Given the description of an element on the screen output the (x, y) to click on. 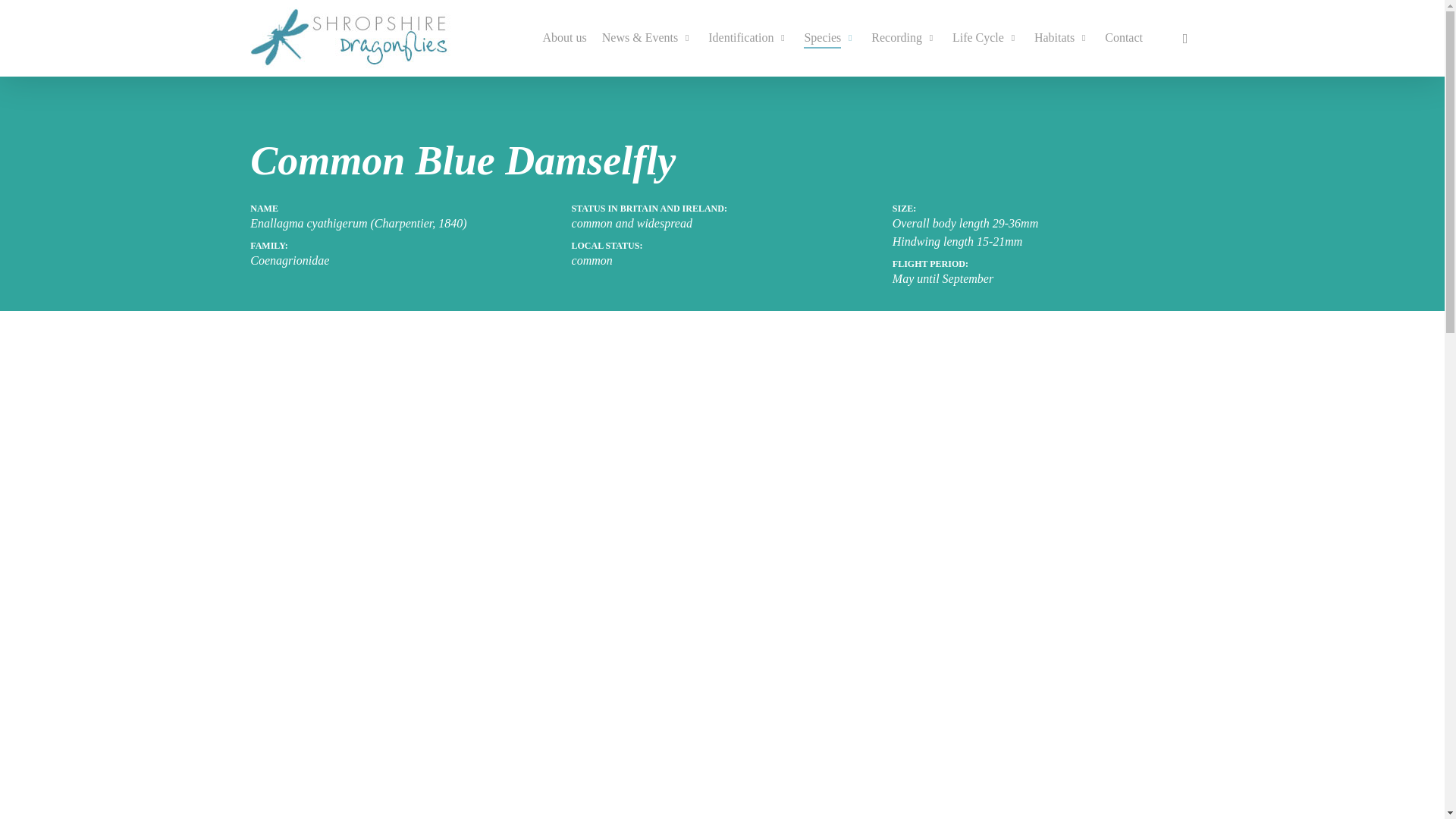
Species (829, 37)
About us (564, 37)
Identification (748, 37)
